Given the description of an element on the screen output the (x, y) to click on. 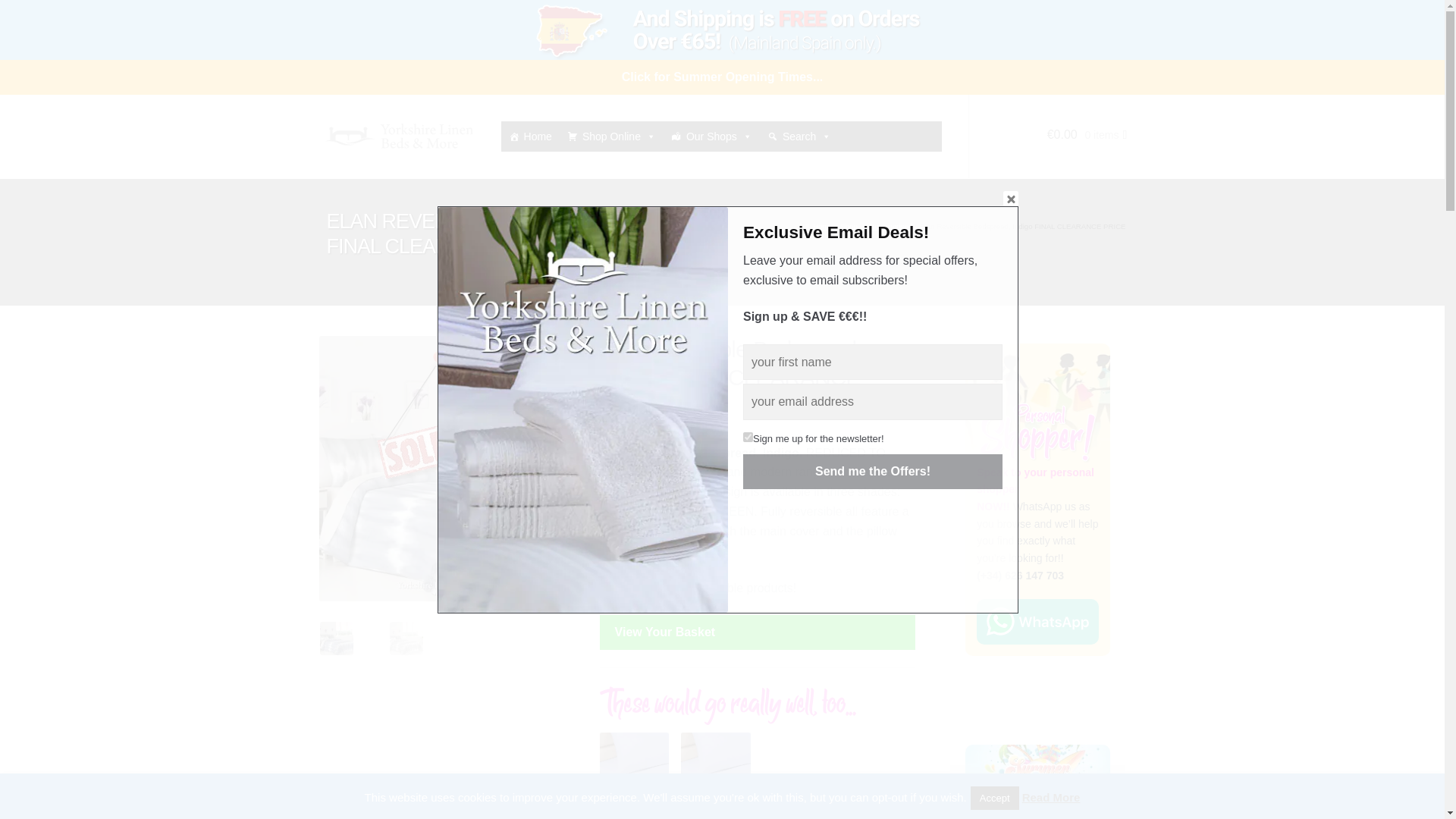
Close (1010, 198)
Home (529, 136)
Shop Online (611, 136)
1 (747, 437)
View your shopping basket (1047, 150)
Send me the Offers! (872, 471)
Call us for Personal Shopping on Whatsapp Now! (1037, 621)
